Given the description of an element on the screen output the (x, y) to click on. 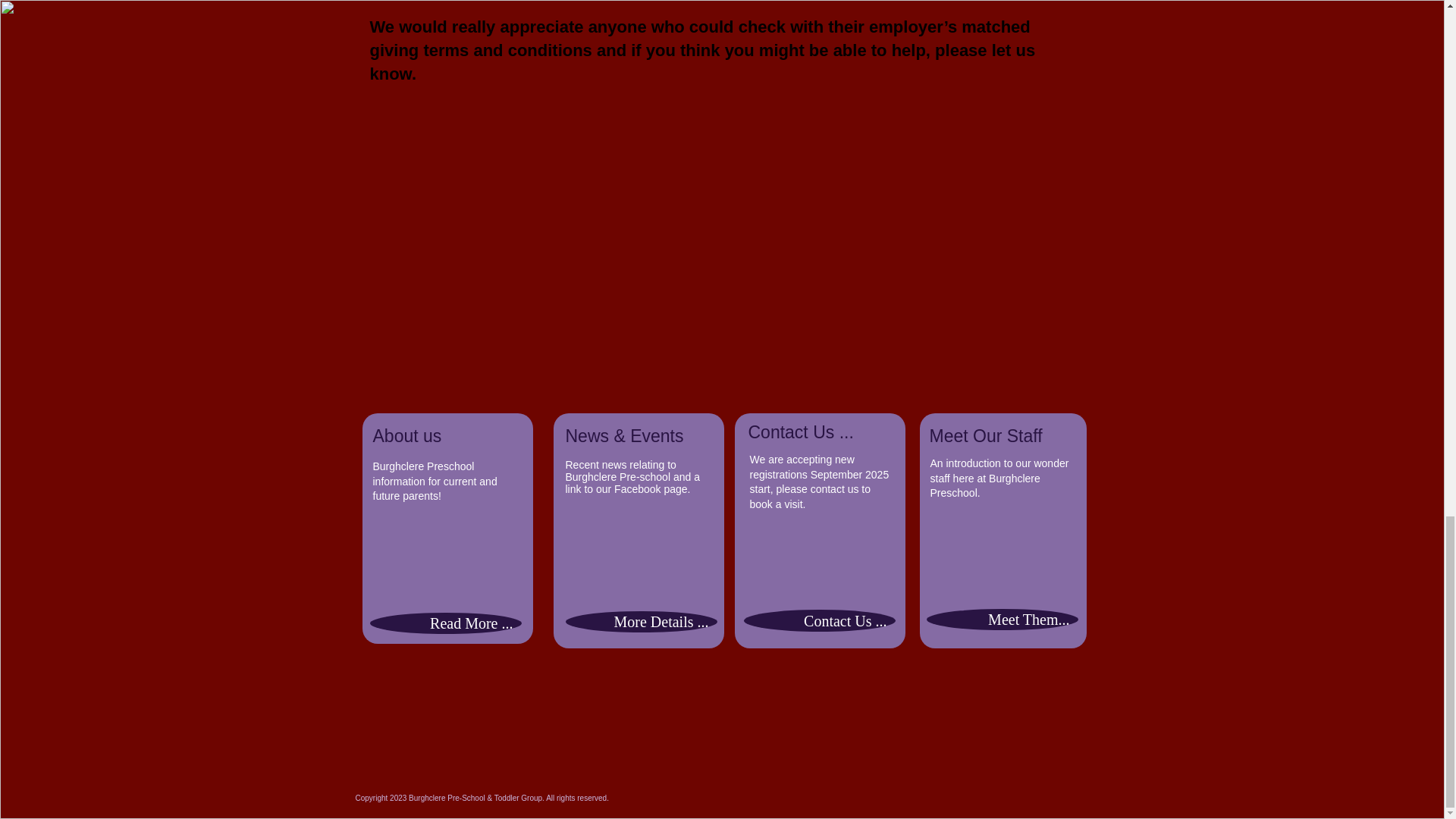
Meet Them... (1002, 619)
Read More ... (445, 622)
More Details ... (641, 621)
Contact Us ... (818, 620)
